Given the description of an element on the screen output the (x, y) to click on. 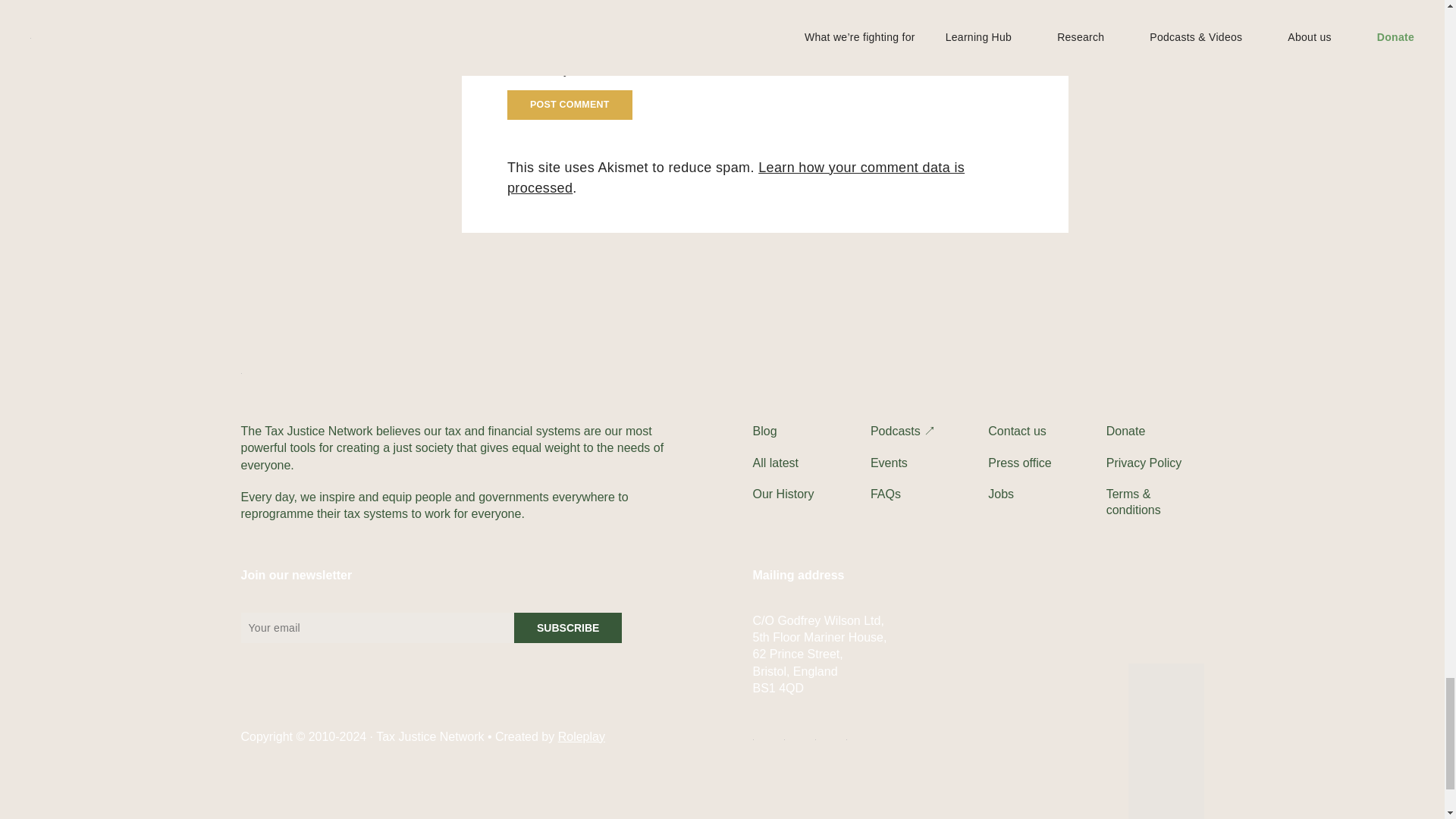
shell games3 (149, 386)
